Given the description of an element on the screen output the (x, y) to click on. 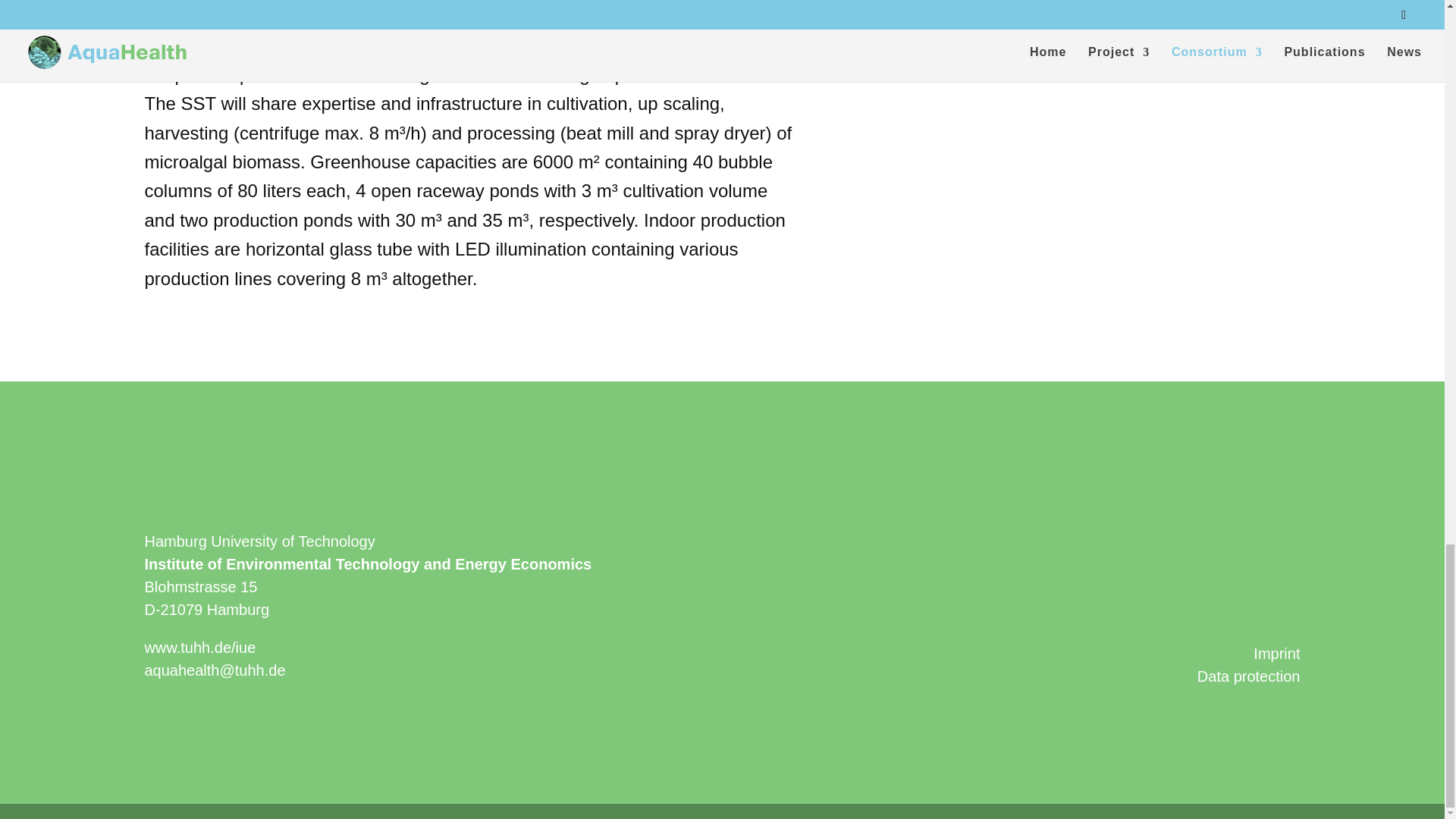
Imprint (1276, 653)
Data protection (1248, 676)
